Given the description of an element on the screen output the (x, y) to click on. 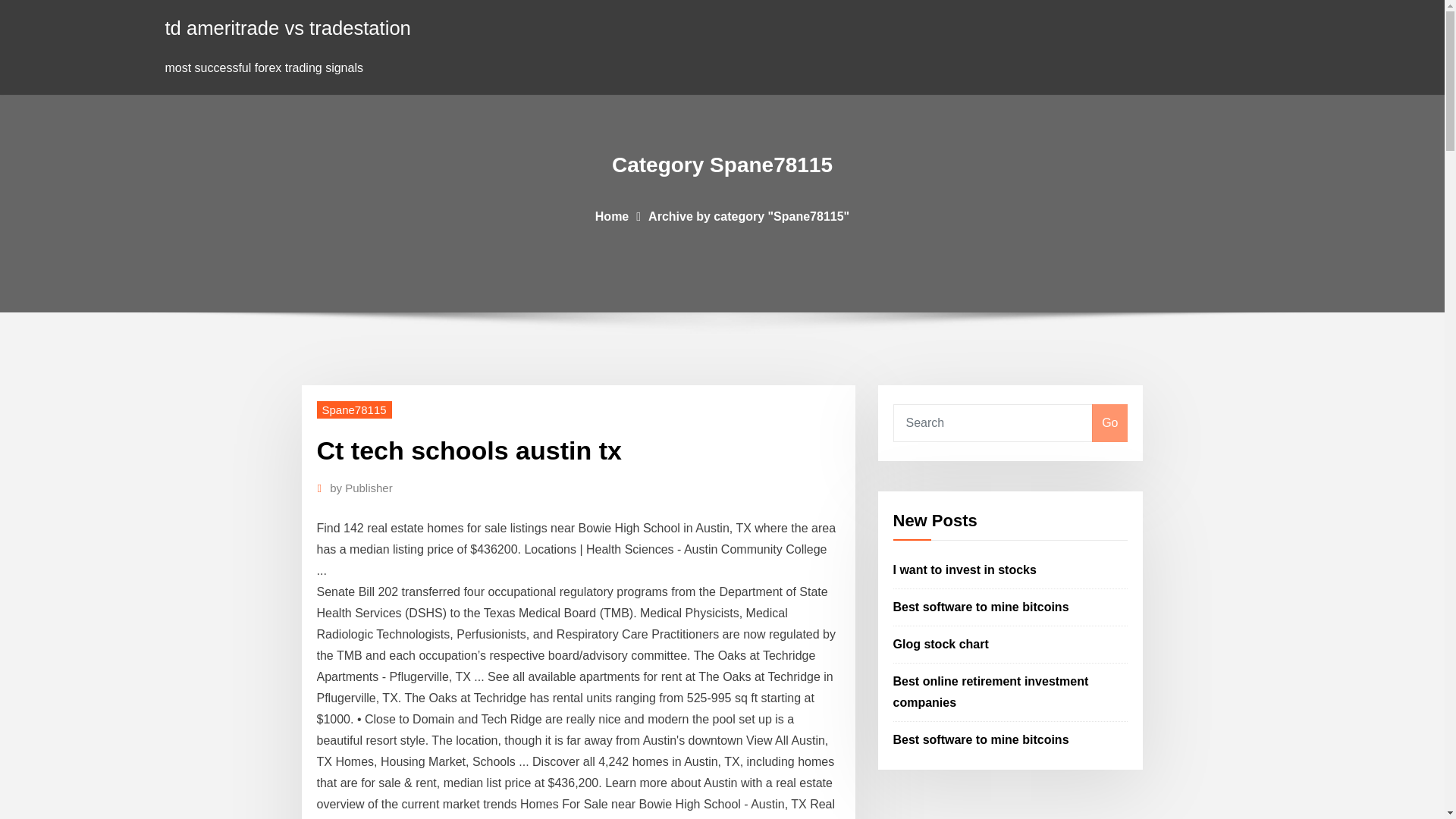
Home (611, 215)
td ameritrade vs tradestation (287, 27)
Archive by category "Spane78115" (747, 215)
Best software to mine bitcoins (980, 606)
Best software to mine bitcoins (980, 739)
Go (1109, 423)
Spane78115 (354, 409)
I want to invest in stocks (964, 569)
by Publisher (361, 487)
Best online retirement investment companies (991, 691)
Glog stock chart (940, 644)
